Given the description of an element on the screen output the (x, y) to click on. 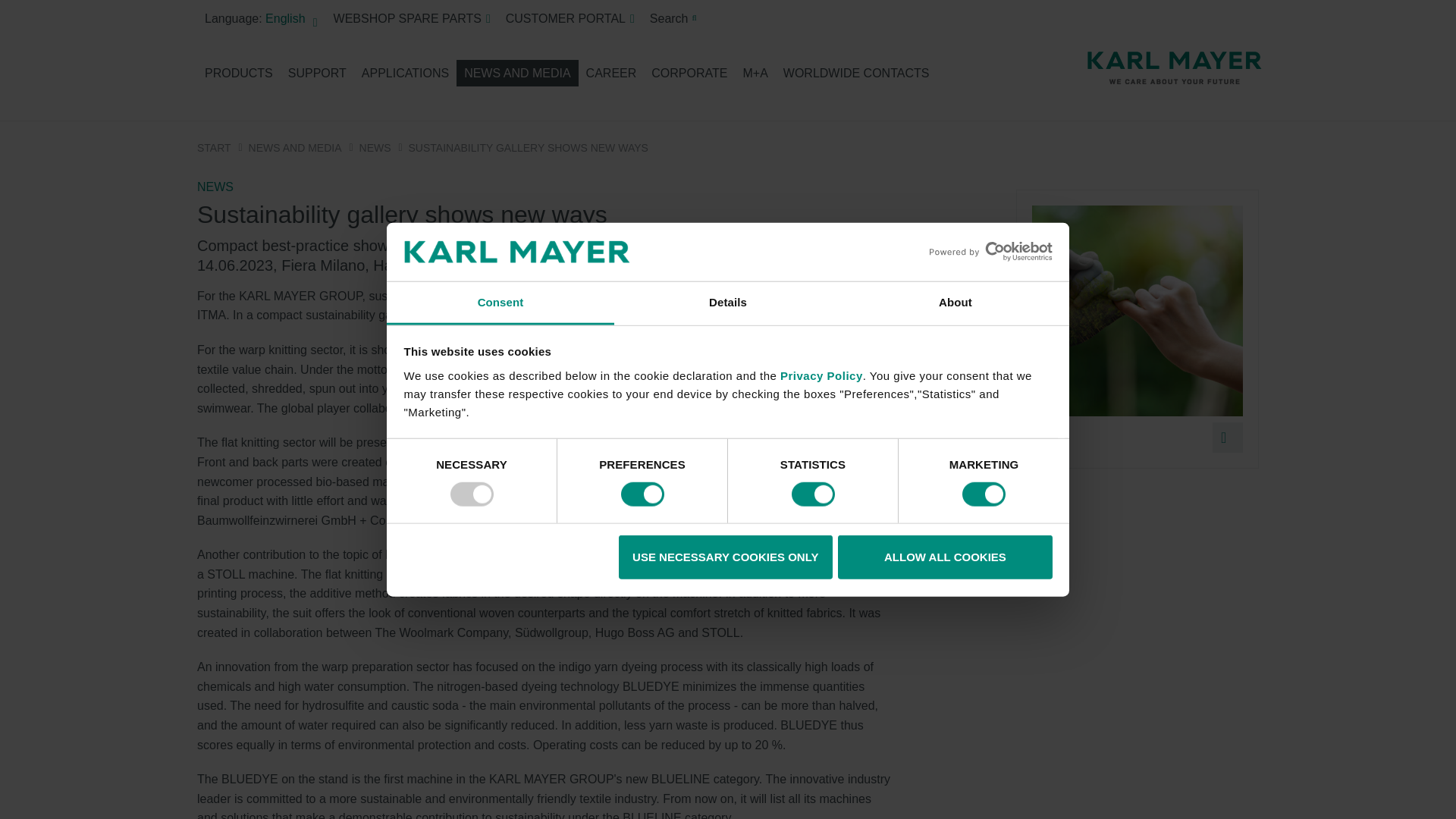
About (954, 303)
Privacy Policy (821, 375)
Consent (500, 303)
Details (727, 303)
